Given the description of an element on the screen output the (x, y) to click on. 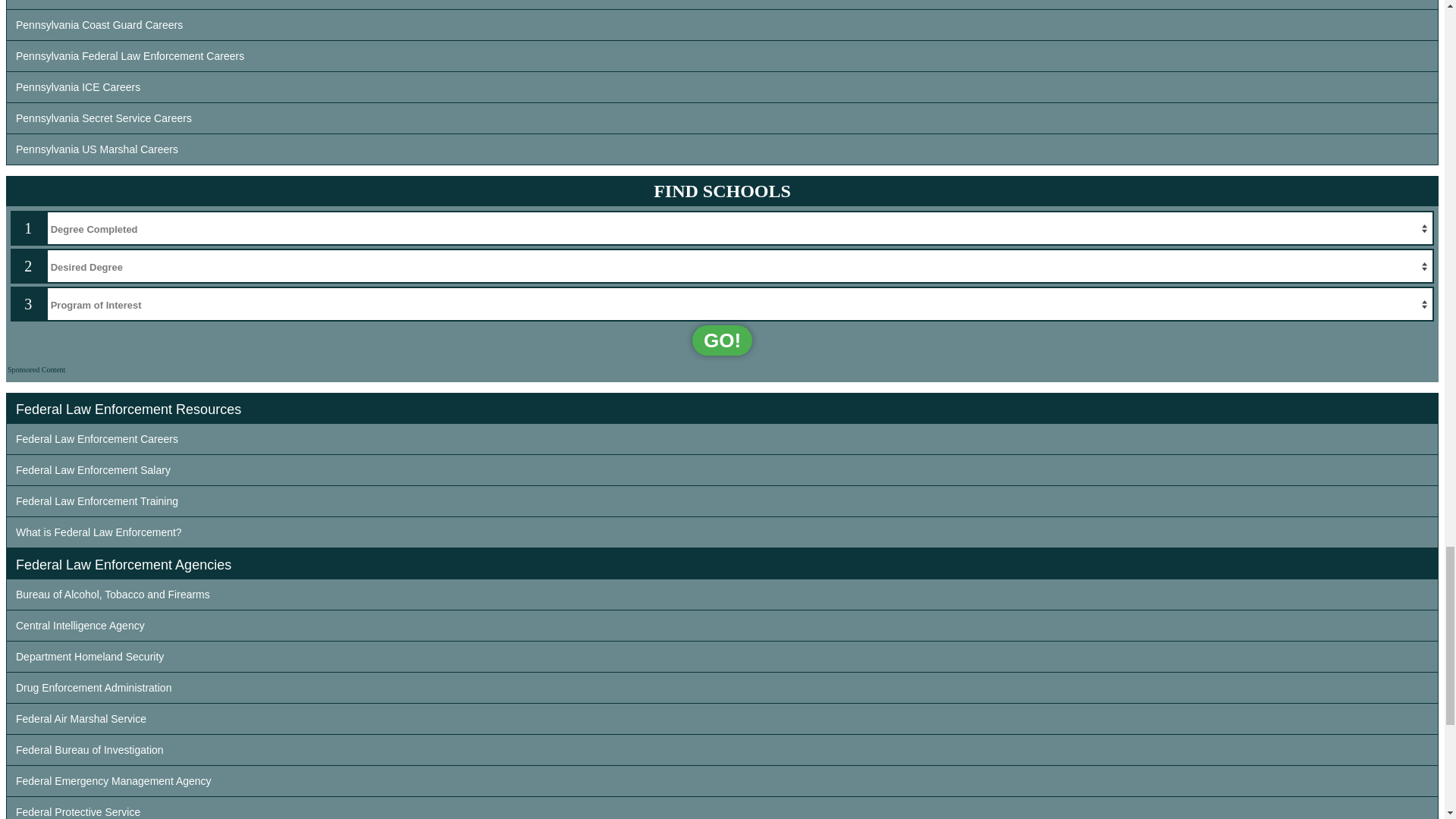
GO! (722, 340)
